Given the description of an element on the screen output the (x, y) to click on. 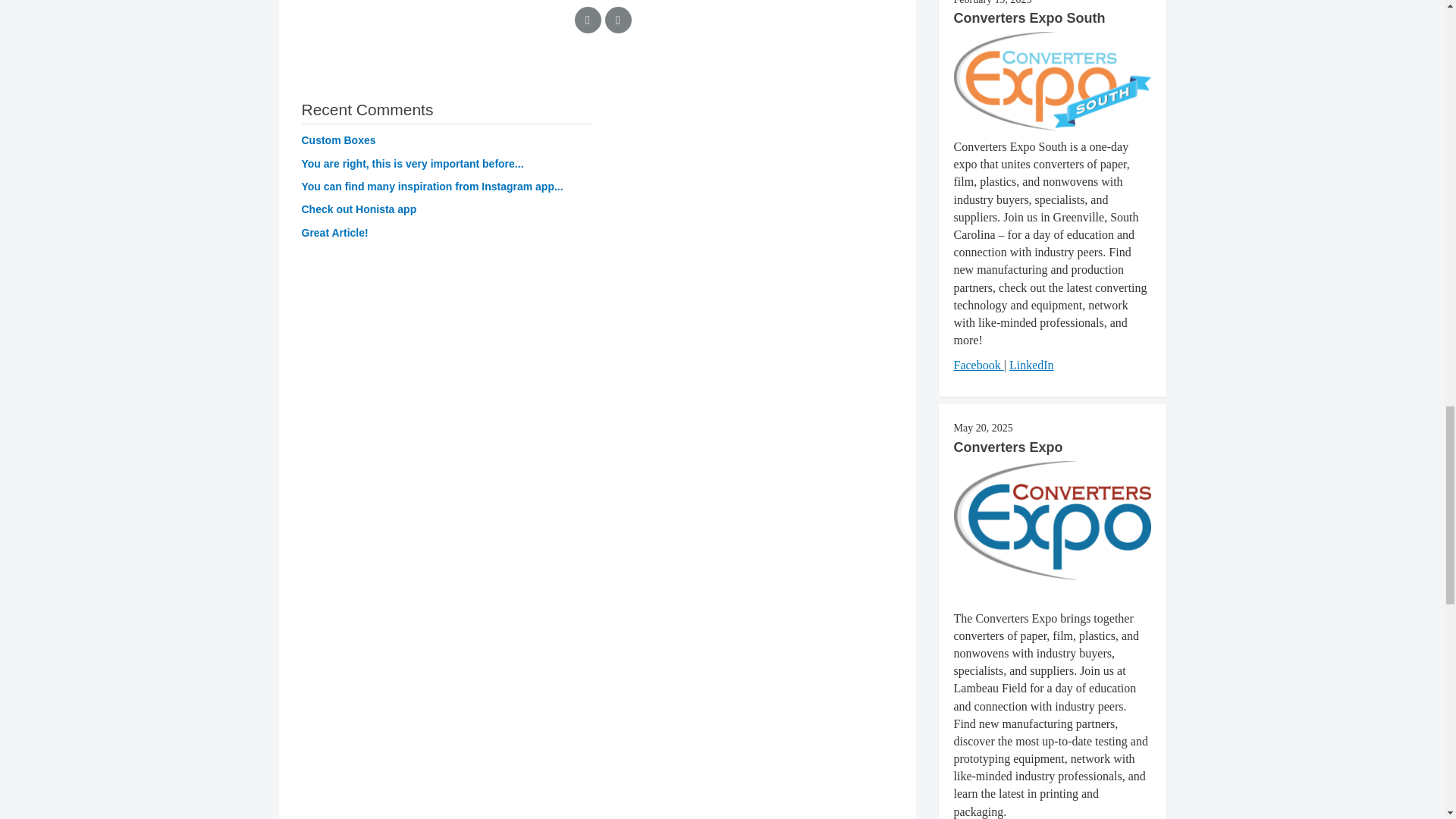
Converters Expo (1007, 447)
Lawyer: Food Safety Act a work in progress (412, 163)
A nod to a beautiful bottle of wine (358, 209)
5 Ways to Boost Sales with Countertop Display Packaging (338, 140)
A nod to a beautiful bottle of wine (432, 186)
Converters Expo South (1029, 17)
